Given the description of an element on the screen output the (x, y) to click on. 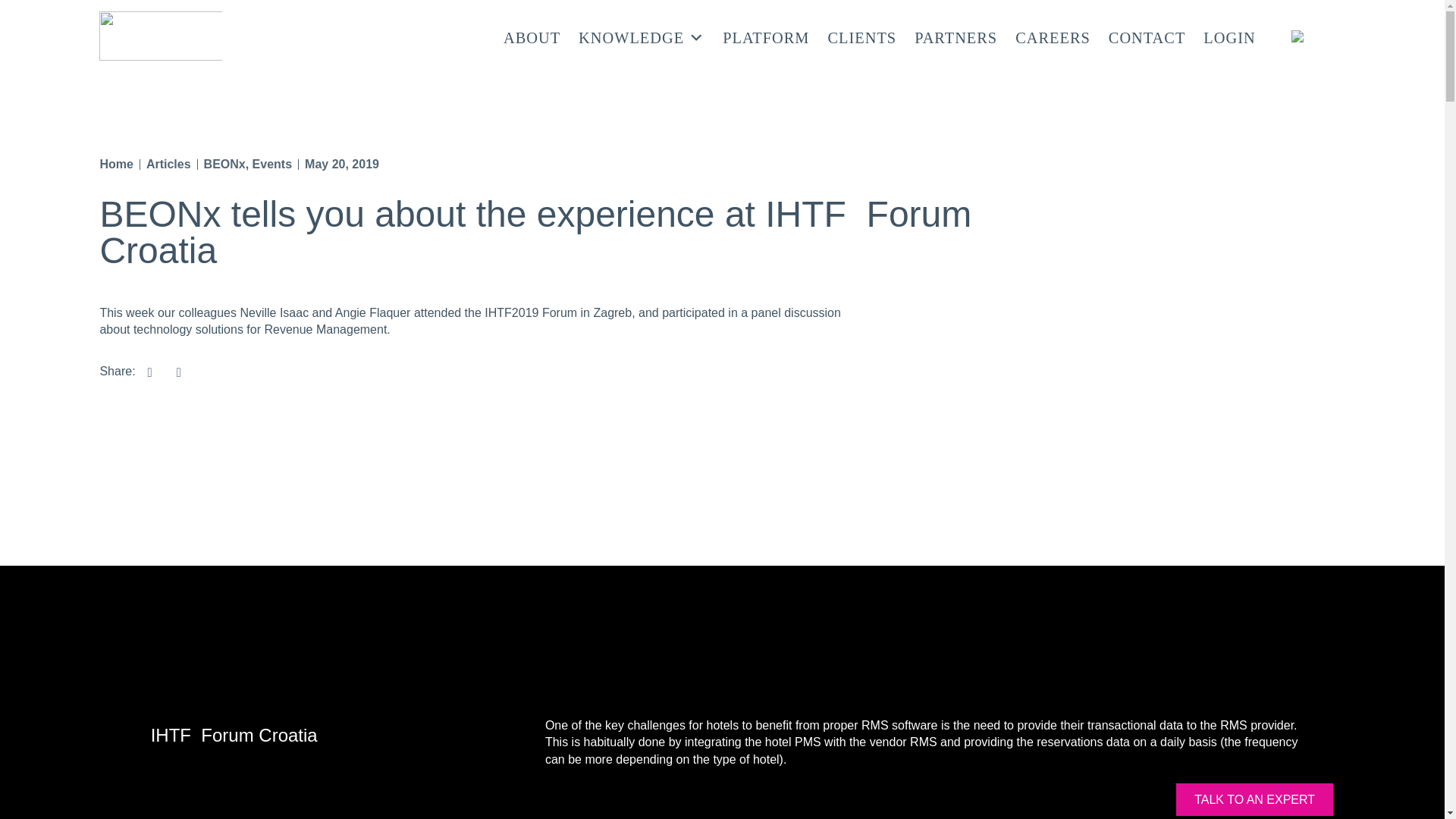
CONTACT (1147, 35)
BEONx (224, 164)
PLATFORM (765, 35)
Articles (168, 164)
TALK TO AN EXPERT (1254, 798)
KNOWLEDGE (641, 35)
Home (115, 164)
ABOUT (531, 35)
CLIENTS (861, 35)
CAREERS (1052, 35)
